Given the description of an element on the screen output the (x, y) to click on. 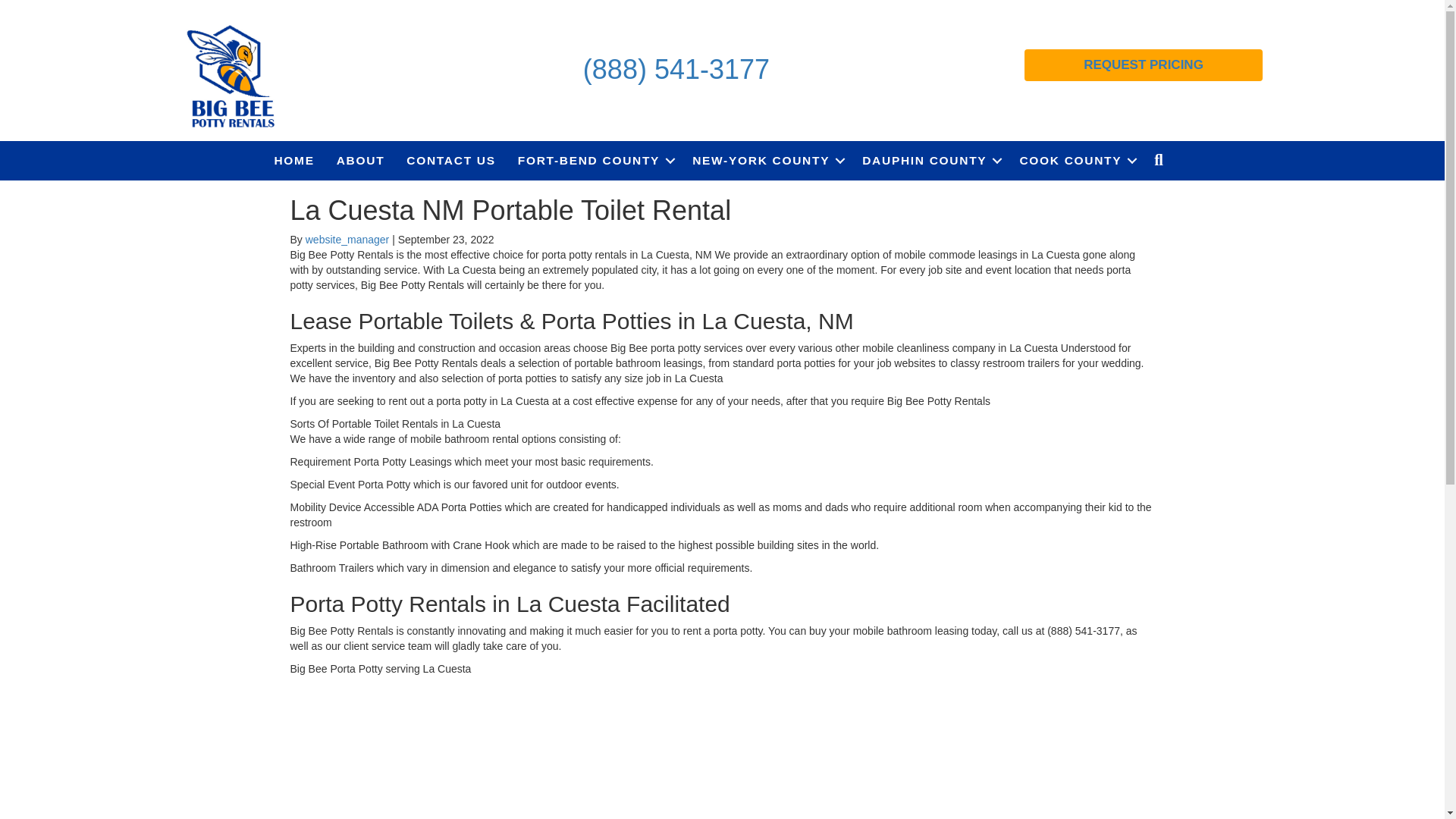
COOK COUNTY (1075, 160)
DAUPHIN COUNTY (929, 160)
NEW-YORK COUNTY (765, 160)
FORT-BEND COUNTY (593, 160)
REQUEST PRICING (1144, 65)
Skip to content (34, 6)
HOME (293, 160)
CONTACT US (450, 160)
ABOUT (361, 160)
